Given the description of an element on the screen output the (x, y) to click on. 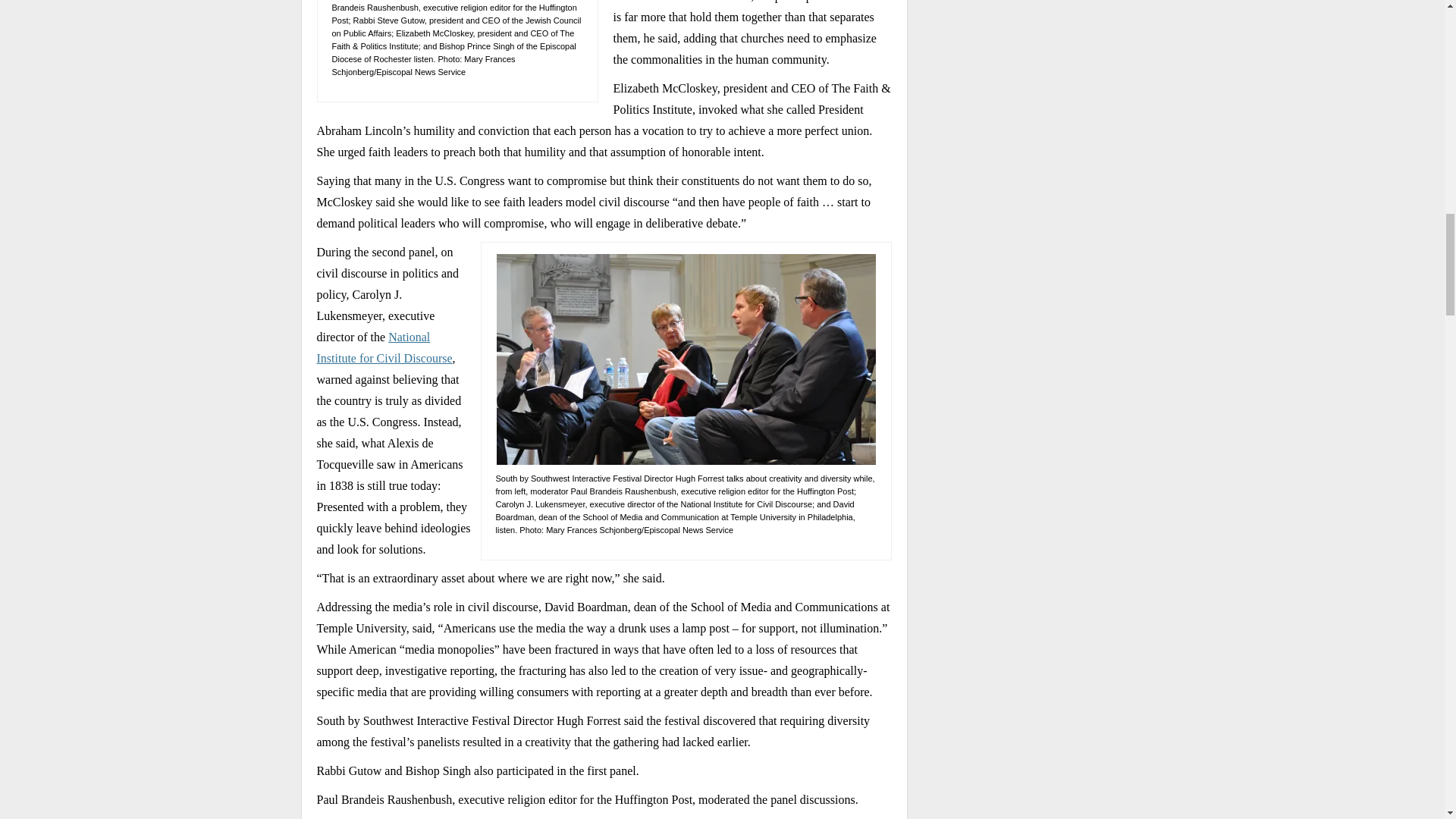
National Institute for Civil Discourse (384, 347)
